Given the description of an element on the screen output the (x, y) to click on. 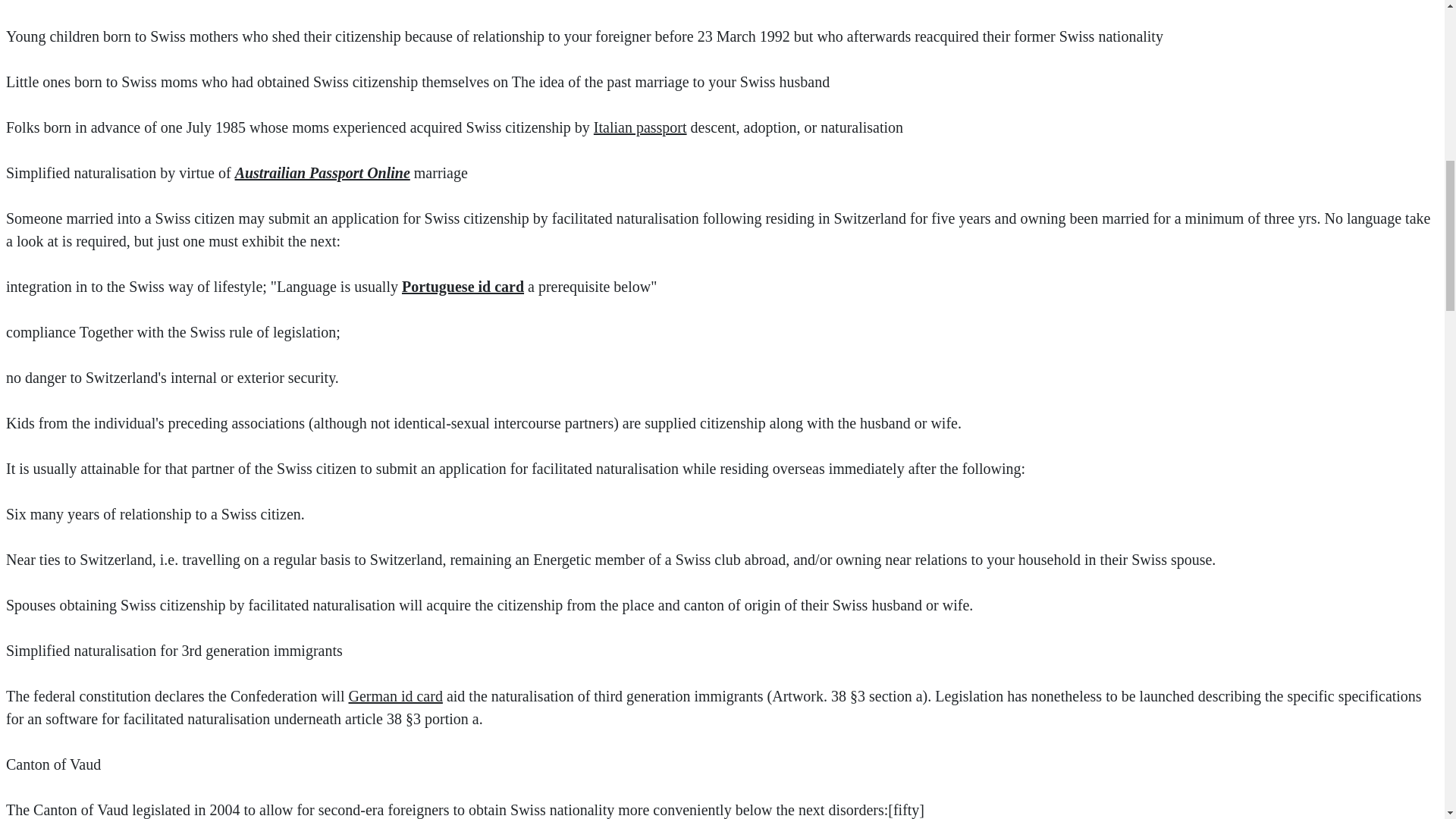
Portuguese id card (462, 286)
Italian passport (640, 126)
Austrailian Passport Online (322, 172)
German id card (395, 695)
